Given the description of an element on the screen output the (x, y) to click on. 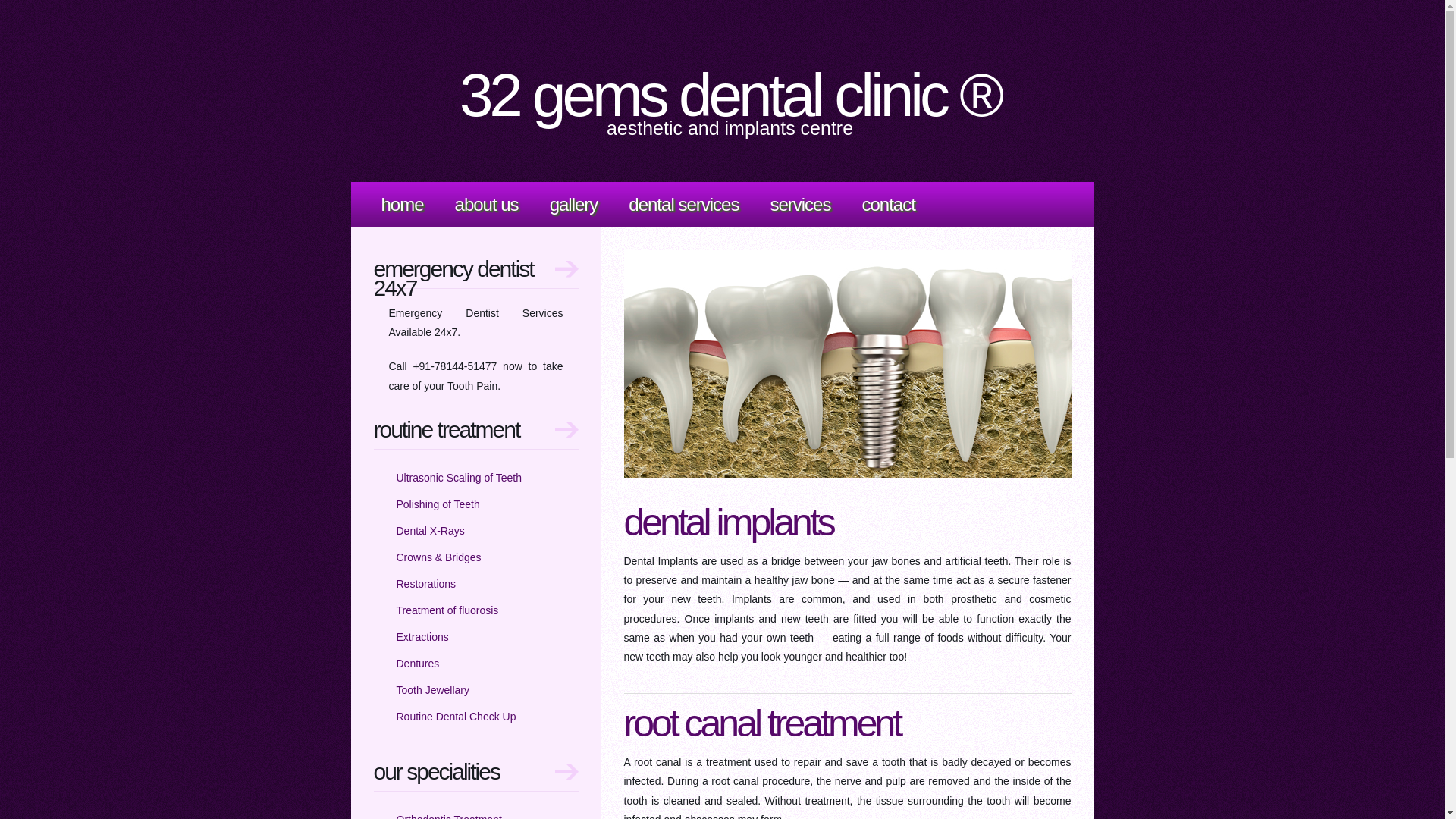
Polishing of Teeth Element type: text (437, 504)
gallery Element type: text (573, 204)
Restorations Element type: text (425, 583)
about us Element type: text (486, 204)
Routine Dental Check Up Element type: text (455, 716)
Treatment of fluorosis Element type: text (446, 610)
home Element type: text (401, 204)
Dentures Element type: text (417, 663)
root canal treatment Element type: text (761, 723)
Extractions Element type: text (421, 636)
Tooth Jewellary Element type: text (432, 690)
Dental X-Rays Element type: text (429, 530)
Ultrasonic Scaling of Teeth Element type: text (458, 477)
dental implants Element type: text (727, 522)
Crowns & Bridges Element type: text (437, 557)
contact Element type: text (887, 204)
services Element type: text (799, 204)
aesthetic and implants centre Element type: text (729, 127)
